Given the description of an element on the screen output the (x, y) to click on. 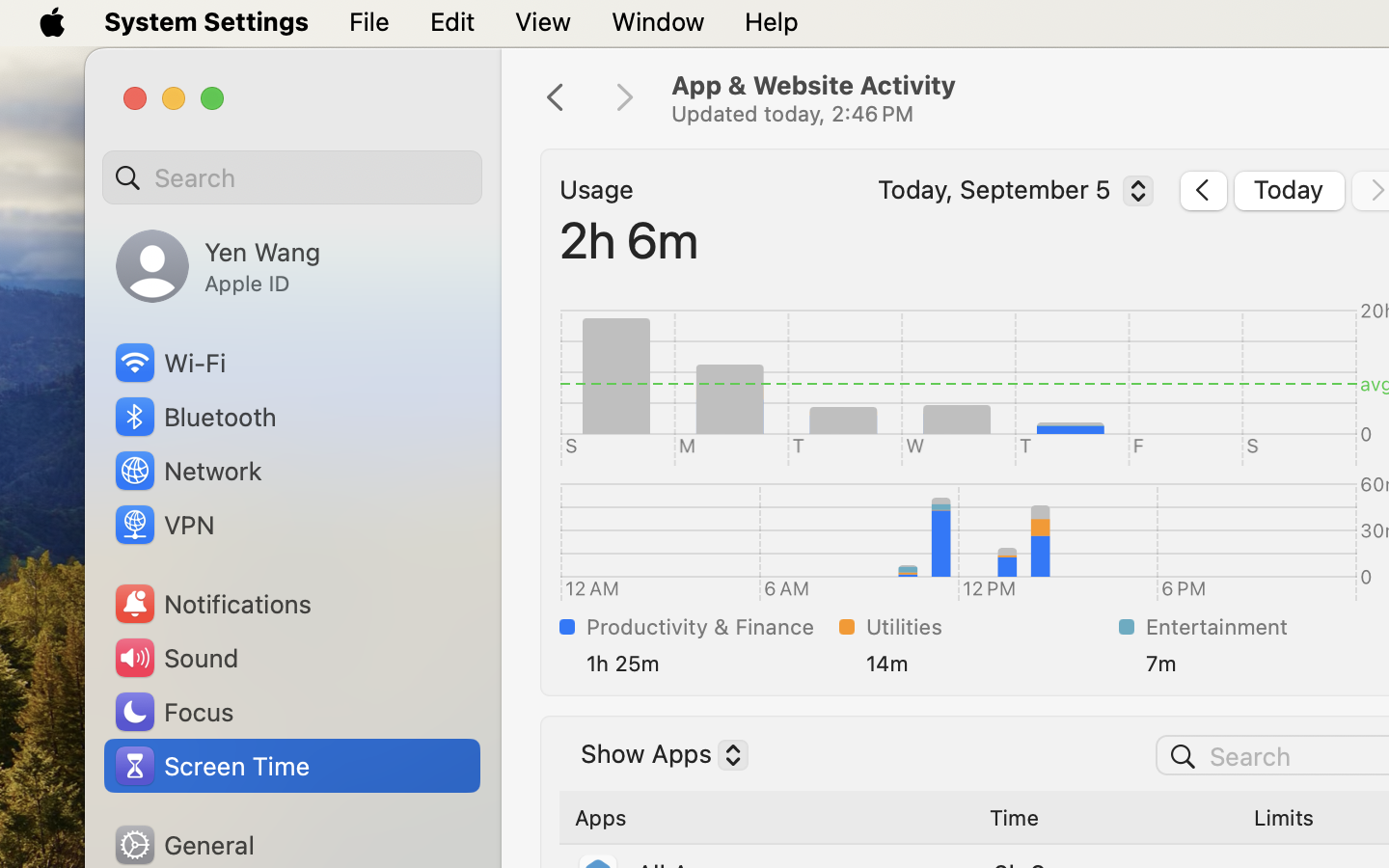
Network Element type: AXStaticText (186, 470)
Bluetooth Element type: AXStaticText (194, 416)
Screen Time Element type: AXStaticText (210, 765)
Wi‑Fi Element type: AXStaticText (168, 362)
2h 6m Element type: AXStaticText (629, 239)
